Given the description of an element on the screen output the (x, y) to click on. 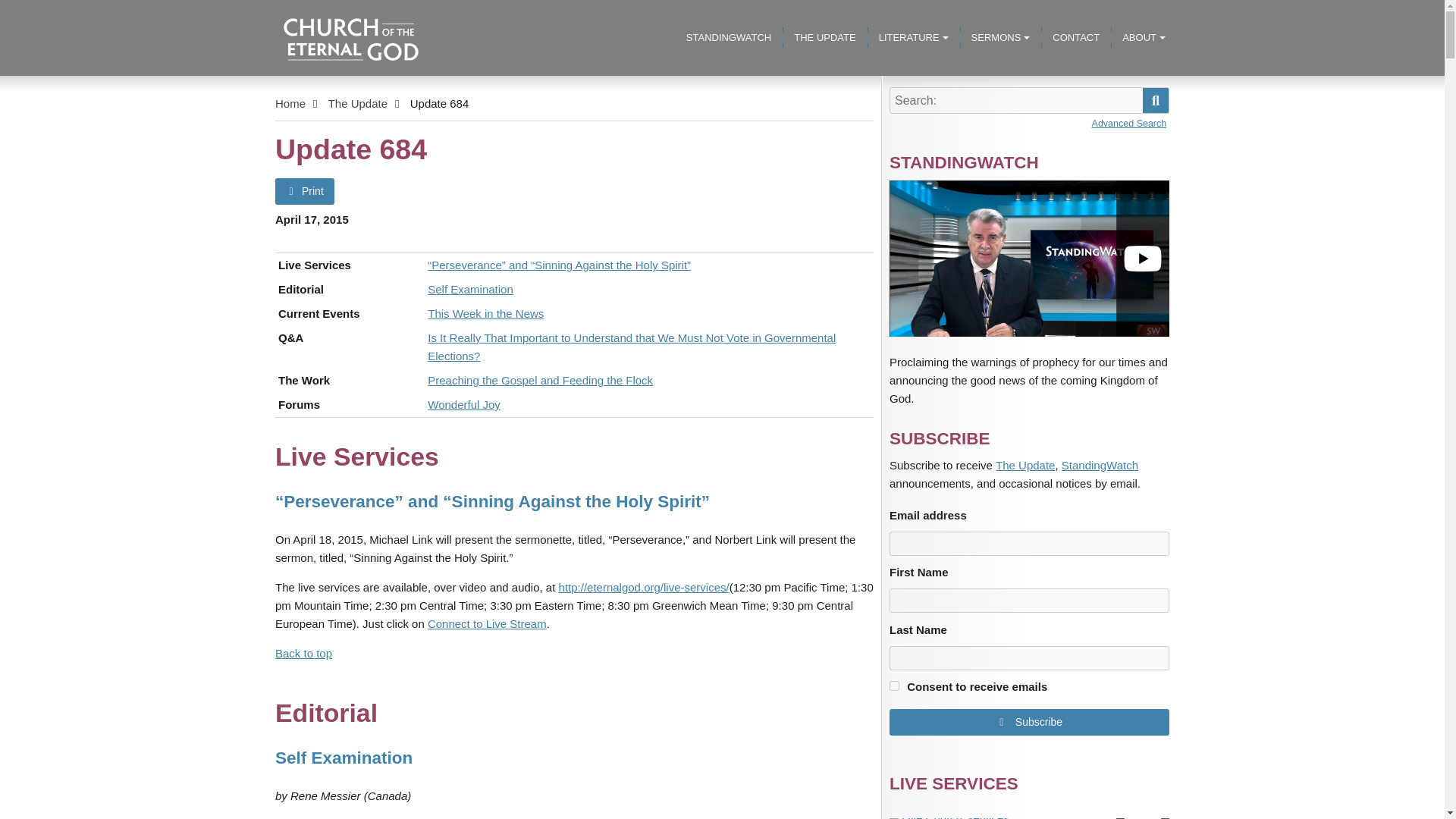
ABOUT (1143, 38)
This Week in the News (485, 313)
Print (304, 191)
CONTACT (1075, 38)
Self Examination (470, 289)
STANDINGWATCH (729, 38)
StandingWatch program (1029, 258)
Wonderful Joy (464, 404)
The Update (358, 104)
THE UPDATE (824, 38)
SERMONS (1000, 38)
yes (894, 685)
Church of the Eternal God (332, 116)
LITERATURE (913, 38)
